Given the description of an element on the screen output the (x, y) to click on. 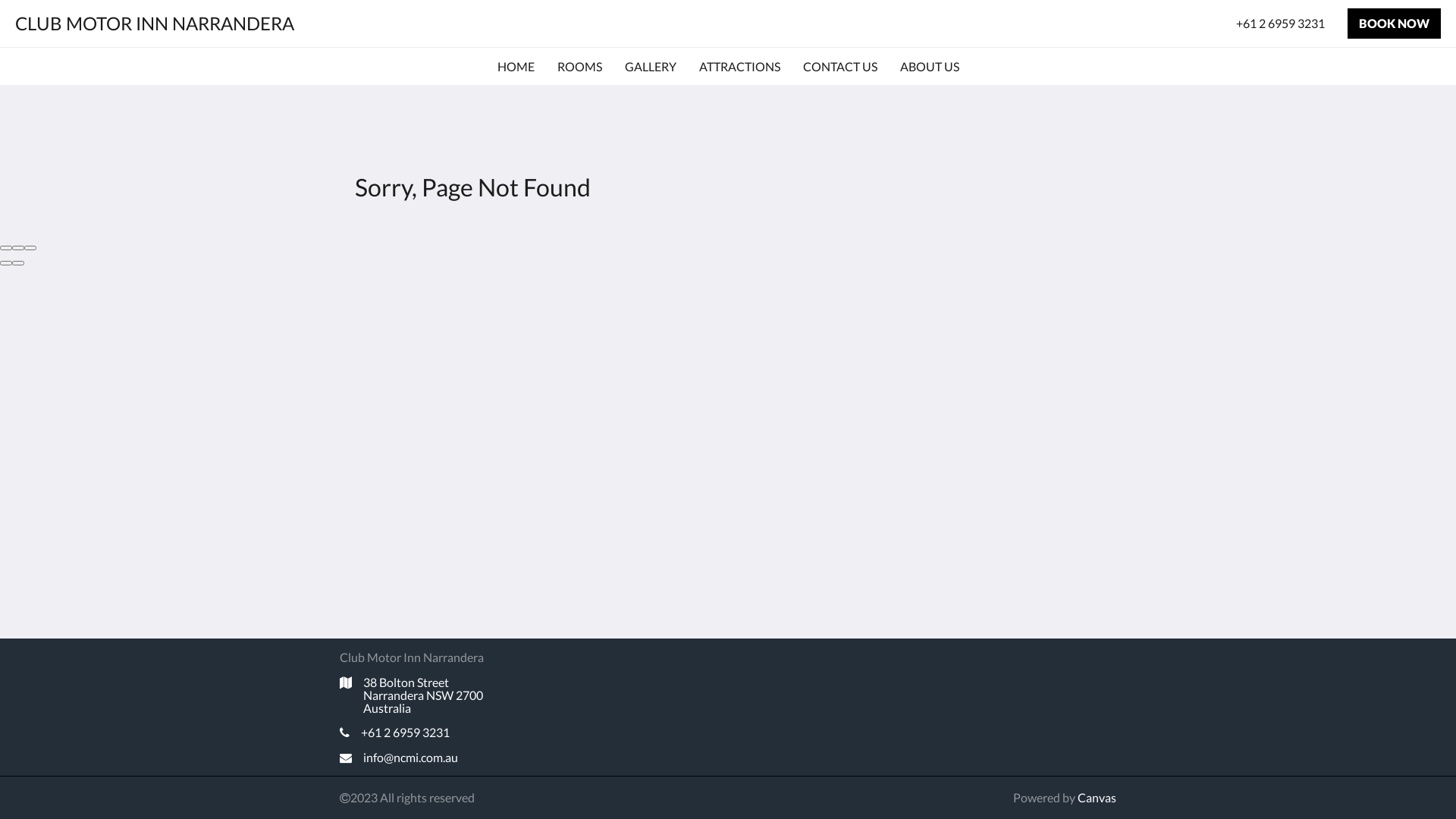
Zoom in/out Element type: hover (30, 247)
+61 2 6959 3231 Element type: text (463, 732)
Previous (arrow left) Element type: hover (6, 262)
CONTACT US Element type: text (839, 66)
HOME Element type: text (515, 66)
GALLERY Element type: text (650, 66)
Canvas Element type: text (1096, 797)
BOOK NOW Element type: text (1393, 23)
+61 2 6959 3231 Element type: text (1280, 23)
38 Bolton Street
Narrandera NSW 2700
Australia Element type: text (463, 694)
info@ncmi.com.au Element type: text (463, 757)
ABOUT US Element type: text (928, 66)
CLUB MOTOR INN NARRANDERA Element type: text (154, 22)
Toggle fullscreen Element type: hover (18, 247)
ROOMS Element type: text (578, 66)
Next (arrow right) Element type: hover (18, 262)
Close (Esc) Element type: hover (6, 247)
ATTRACTIONS Element type: text (739, 66)
